Given the description of an element on the screen output the (x, y) to click on. 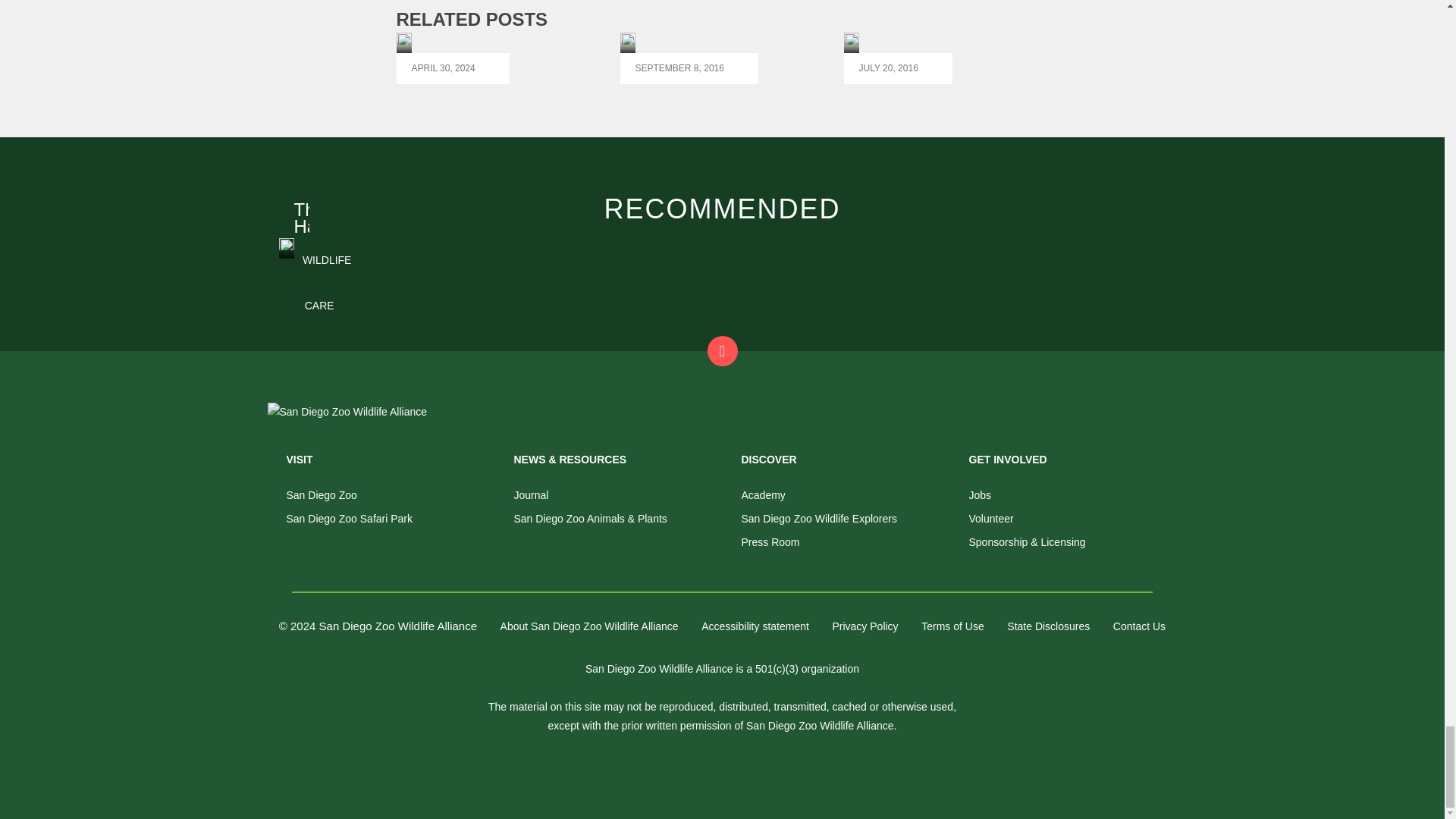
Press Room (770, 541)
Accessibility statement (755, 625)
Academy (763, 494)
SEPTEMBER 8, 2016 (689, 57)
About San Diego Zoo Wildlife Alliance (589, 625)
JULY 20, 2016 (898, 57)
Privacy Policy (864, 625)
San Diego Zoo (321, 494)
San Diego Zoo Wildlife Explorers (818, 518)
Terms of Use (952, 625)
State Disclosures (1048, 625)
Journal (530, 494)
Jobs (980, 494)
San Diego Zoo Safari Park (349, 518)
